Given the description of an element on the screen output the (x, y) to click on. 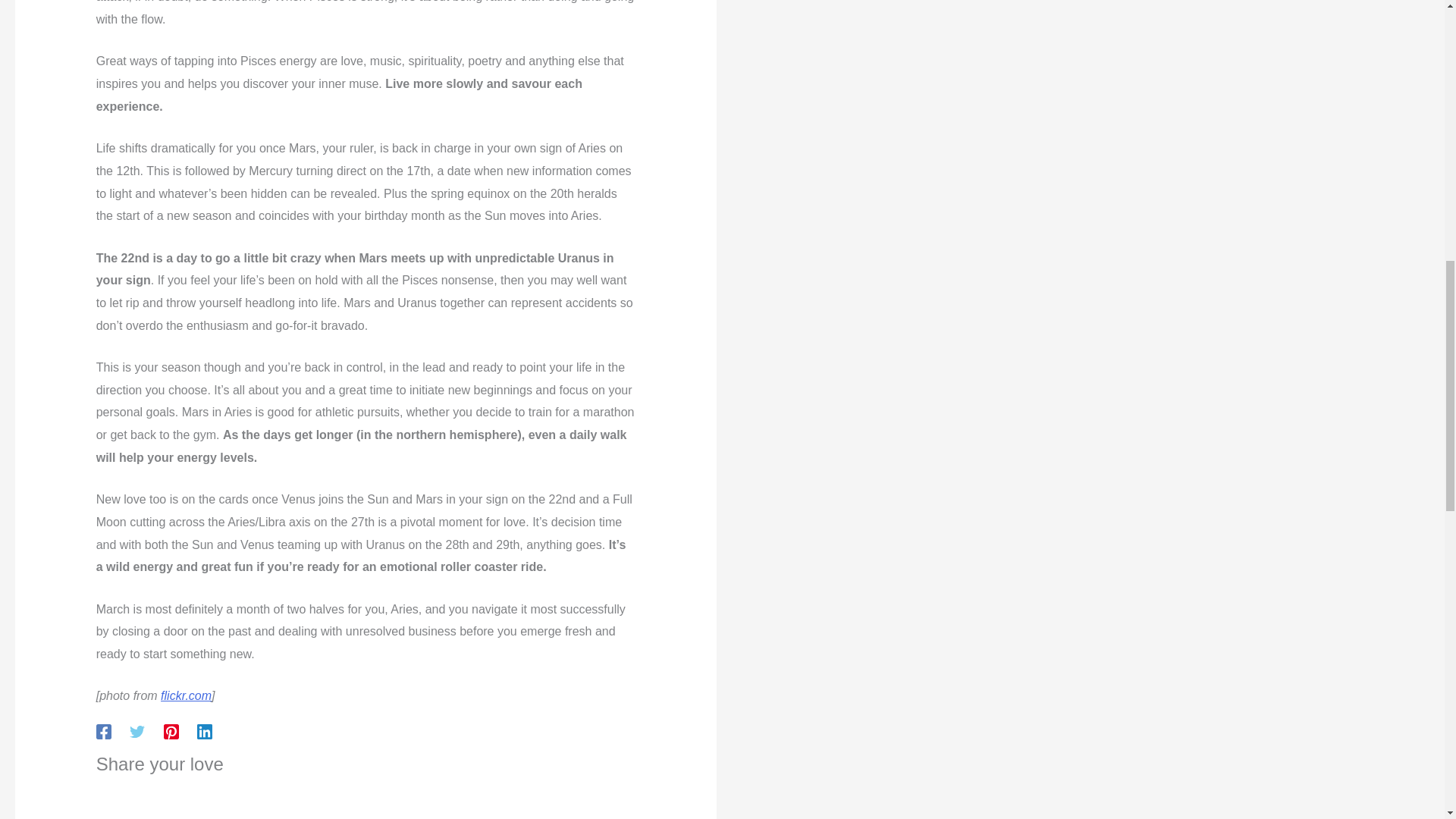
Aries Maldives Stamp (185, 695)
